Given the description of an element on the screen output the (x, y) to click on. 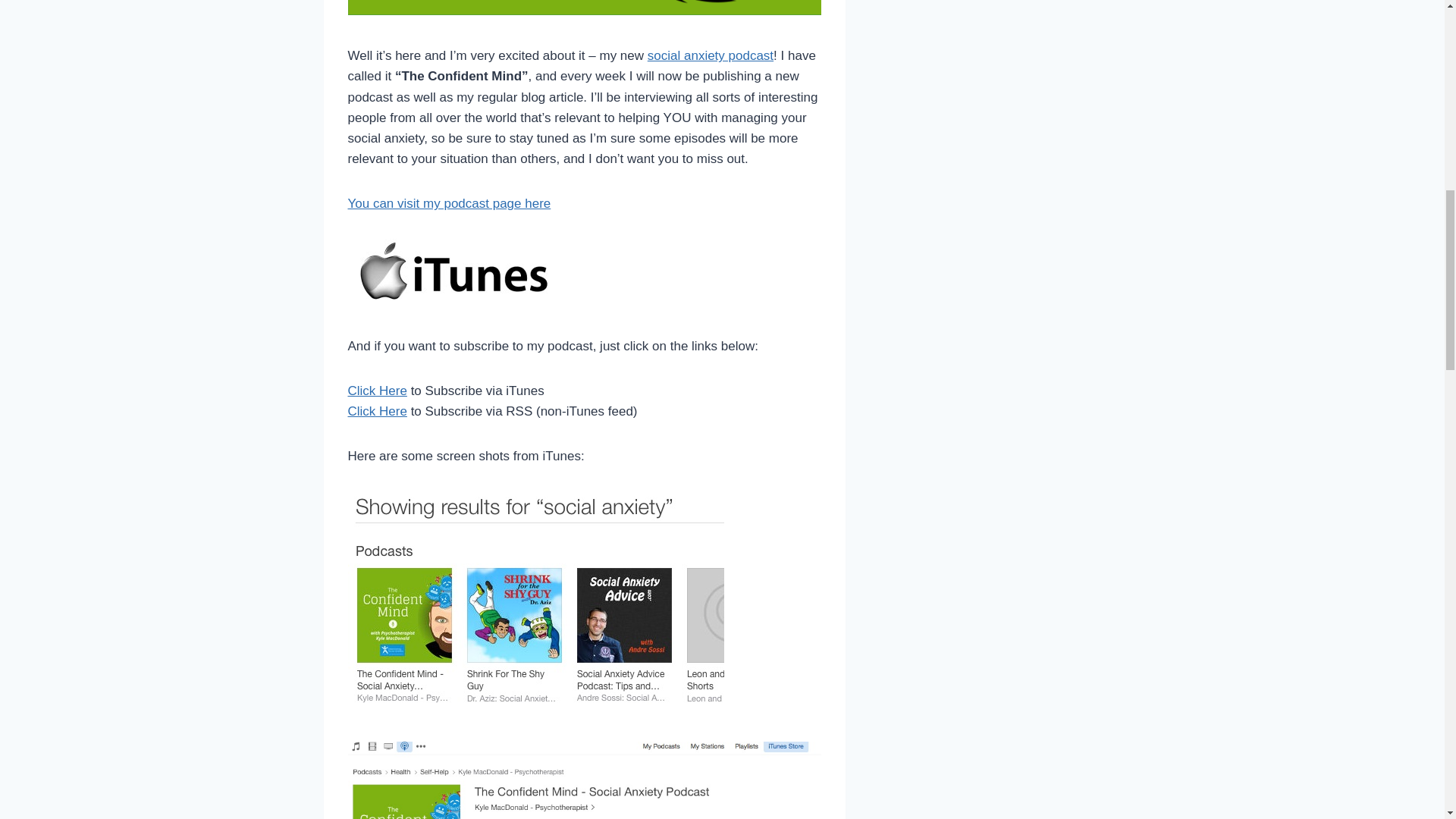
social anxiety podcast (710, 55)
You can visit my podcast page here (448, 203)
Click Here (376, 391)
Click Here (376, 411)
